Given the description of an element on the screen output the (x, y) to click on. 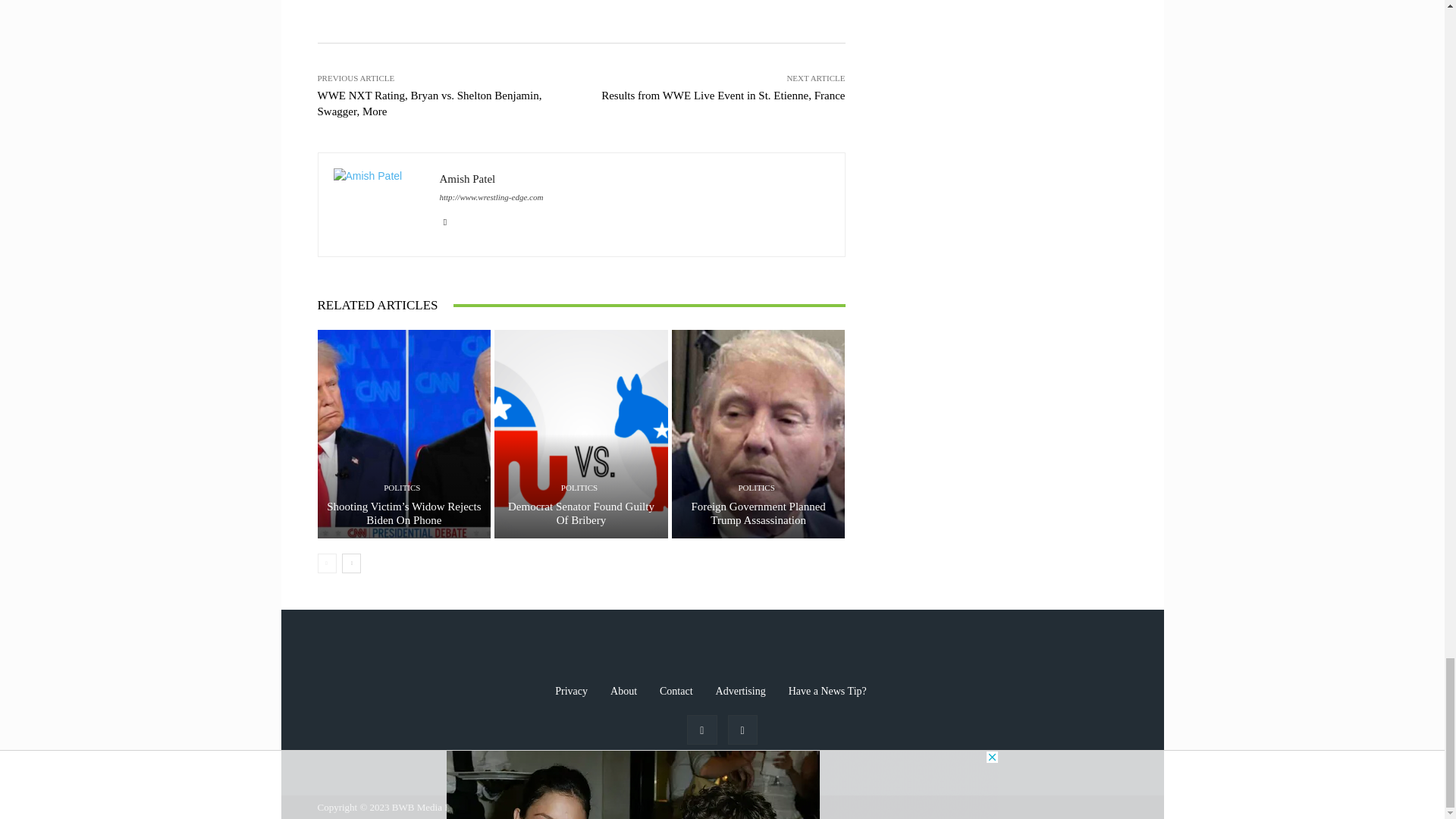
Amish Patel (379, 204)
